Given the description of an element on the screen output the (x, y) to click on. 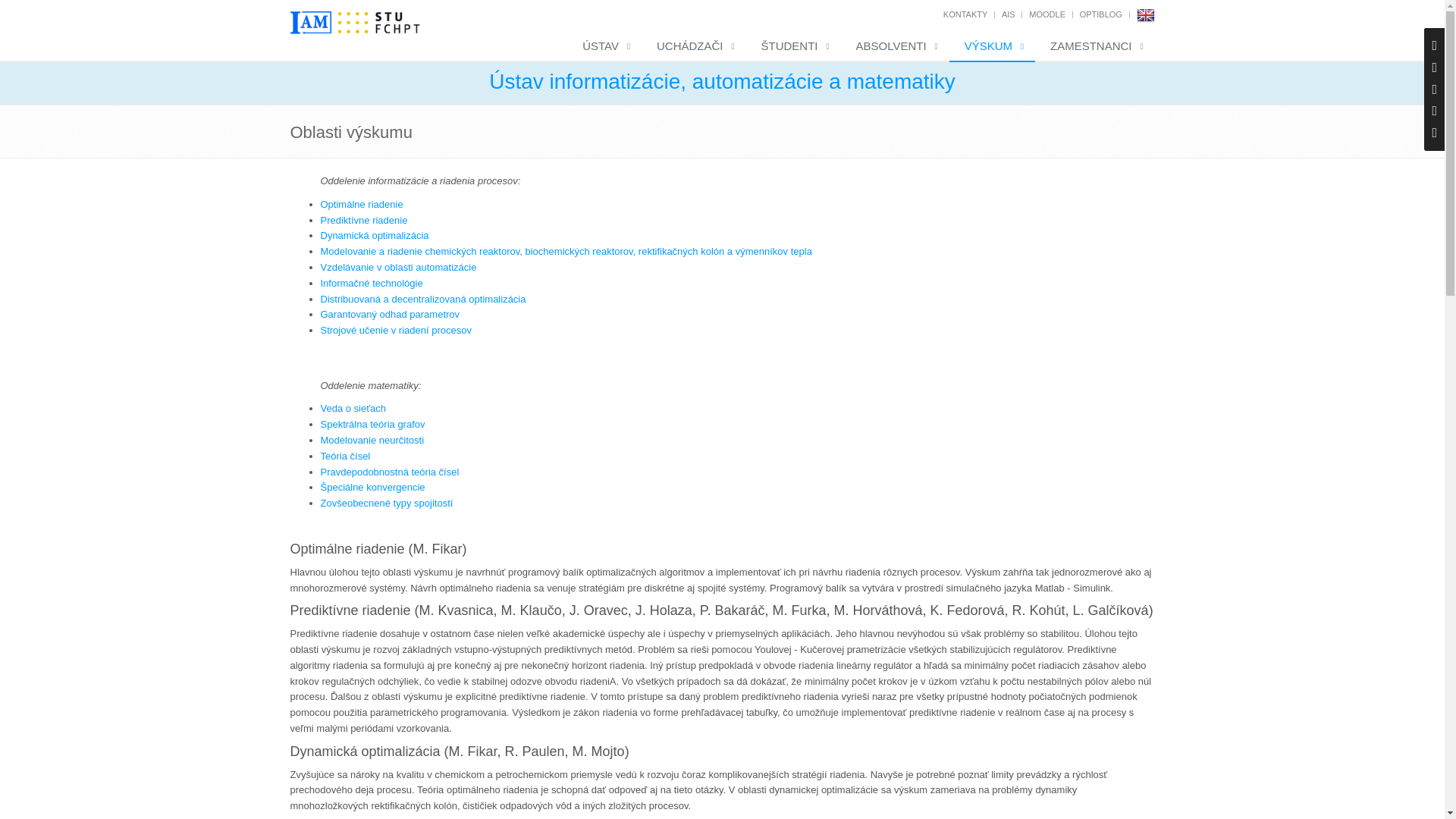
KONTAKTY (965, 13)
AIS (1007, 13)
OPTIBLOG (1101, 13)
MOODLE (1047, 13)
